Given the description of an element on the screen output the (x, y) to click on. 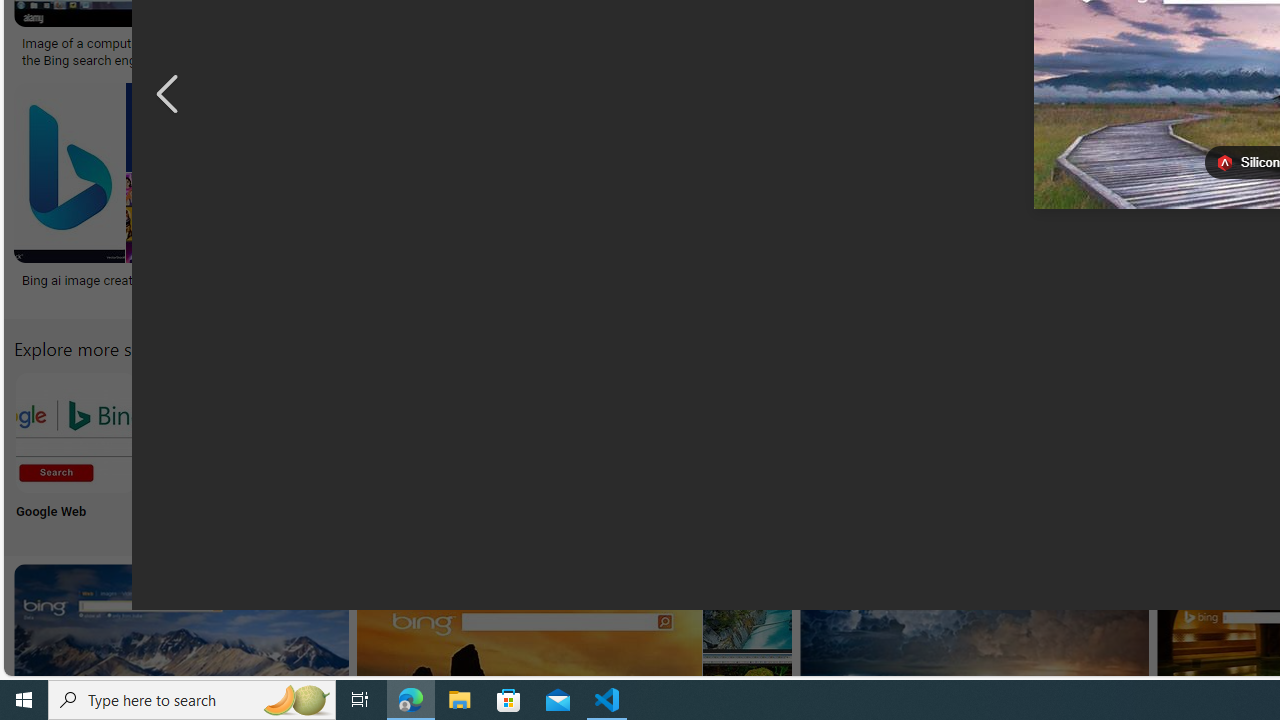
Bing People Search People (999, 450)
Bing ai image creatorSave (118, 196)
People (999, 450)
Image result for Bing Search Site (747, 608)
Bing Photo Search Microsoft Edge Microsoft Edge (472, 450)
Bing (536, 279)
Results (1131, 450)
Google Web Search Bing Google Web (75, 450)
Microsoft Edge (472, 450)
FIX: Downloading proxy script message on Google Chrome (927, 287)
Image result for Bing Search Site (644, 172)
